Given the description of an element on the screen output the (x, y) to click on. 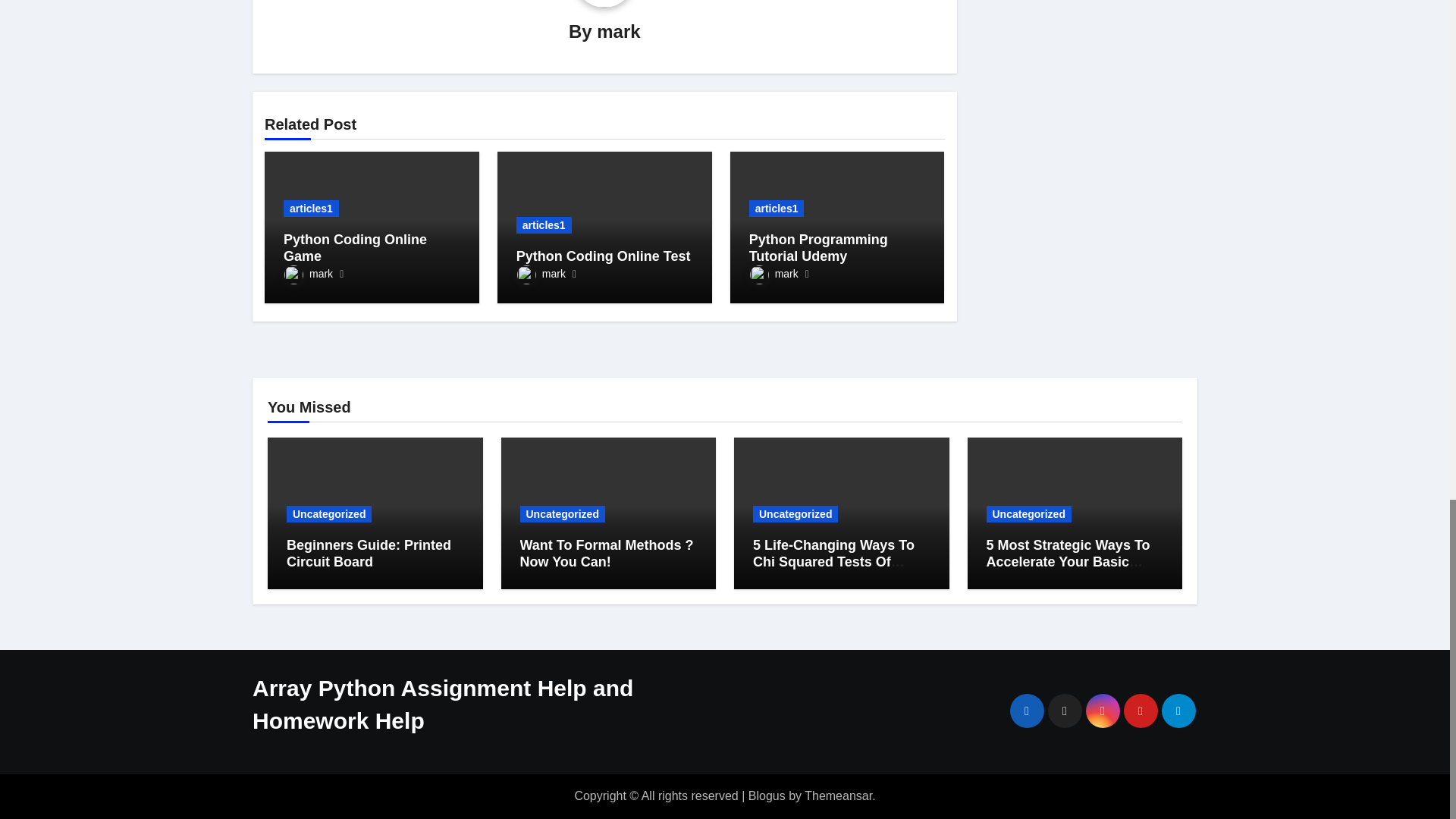
Permalink to: Python Coding Online Test (603, 255)
Python Coding Online Game (354, 247)
articles1 (311, 208)
Permalink to: Python Programming Tutorial Udemy (818, 247)
Permalink to: Python Coding Online Game (354, 247)
Permalink to: Beginners Guide: Printed Circuit Board (368, 553)
mark (308, 273)
mark (618, 31)
Permalink to: Want To Formal Methods ? Now You Can! (606, 553)
